Given the description of an element on the screen output the (x, y) to click on. 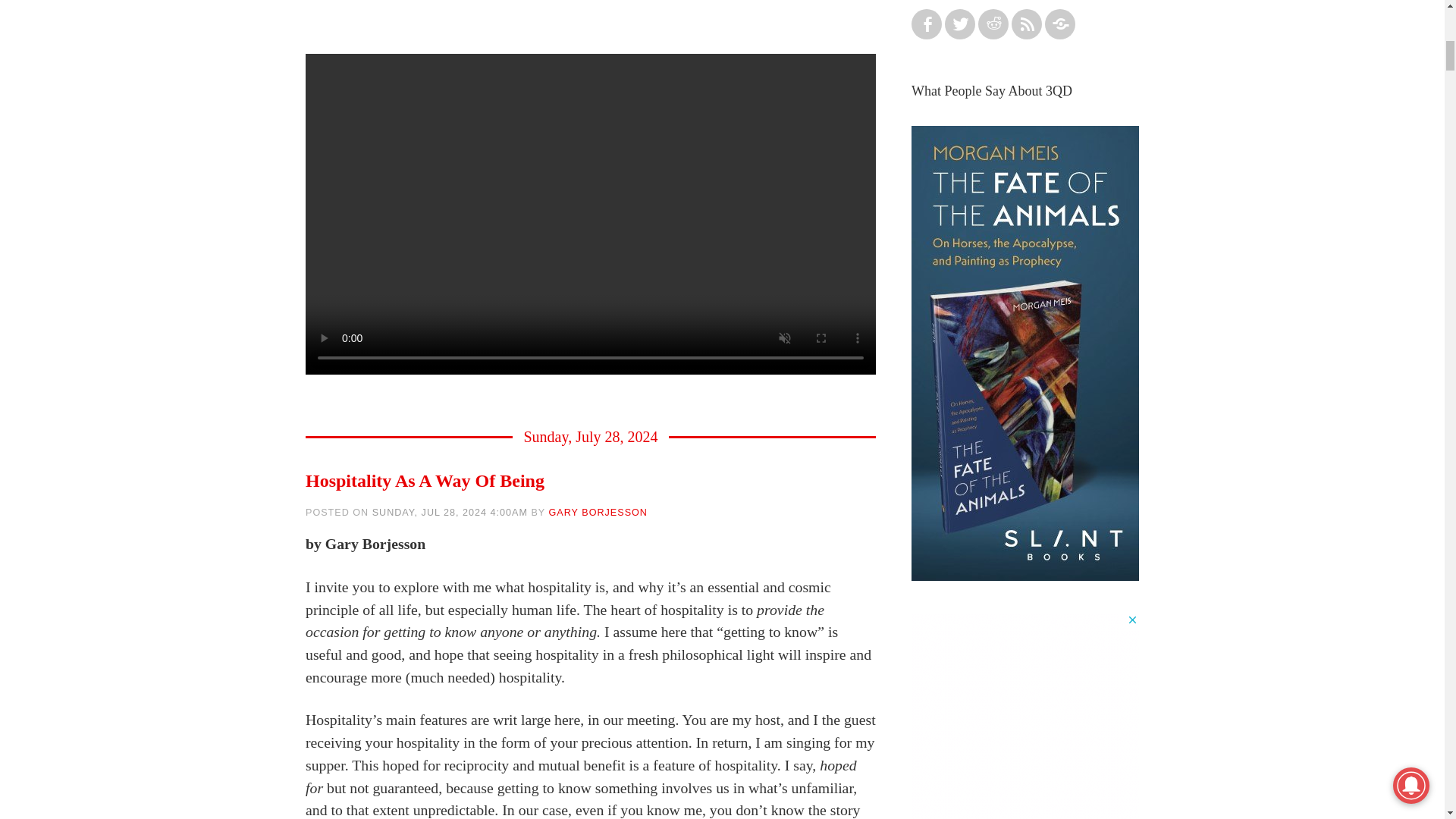
Hospitality As A Way Of Being (424, 480)
GARY BORJESSON (597, 511)
3rd party ad content (1024, 716)
SUNDAY, JUL 28, 2024 4:00AM (449, 511)
